Given the description of an element on the screen output the (x, y) to click on. 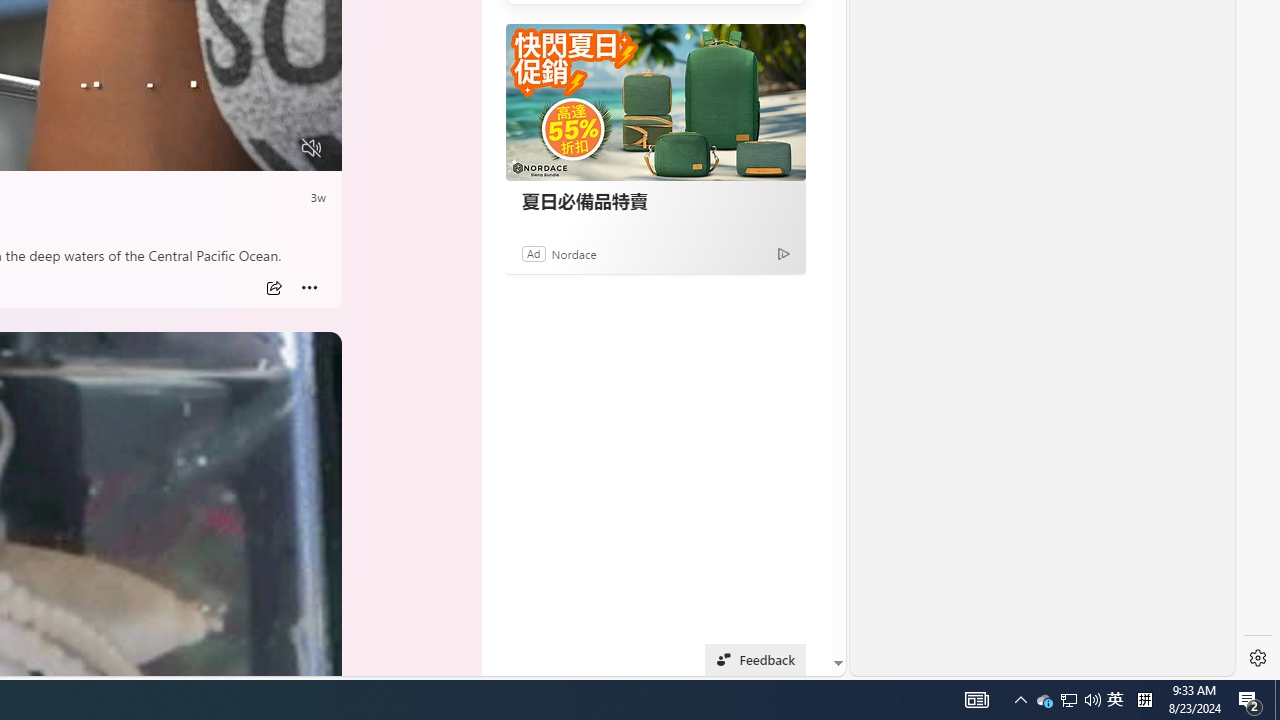
Quality Settings (193, 148)
Share (274, 288)
Fullscreen (273, 148)
Captions (233, 148)
More (310, 288)
Class: at-item inline-watch (310, 288)
Unmute (311, 148)
